Given the description of an element on the screen output the (x, y) to click on. 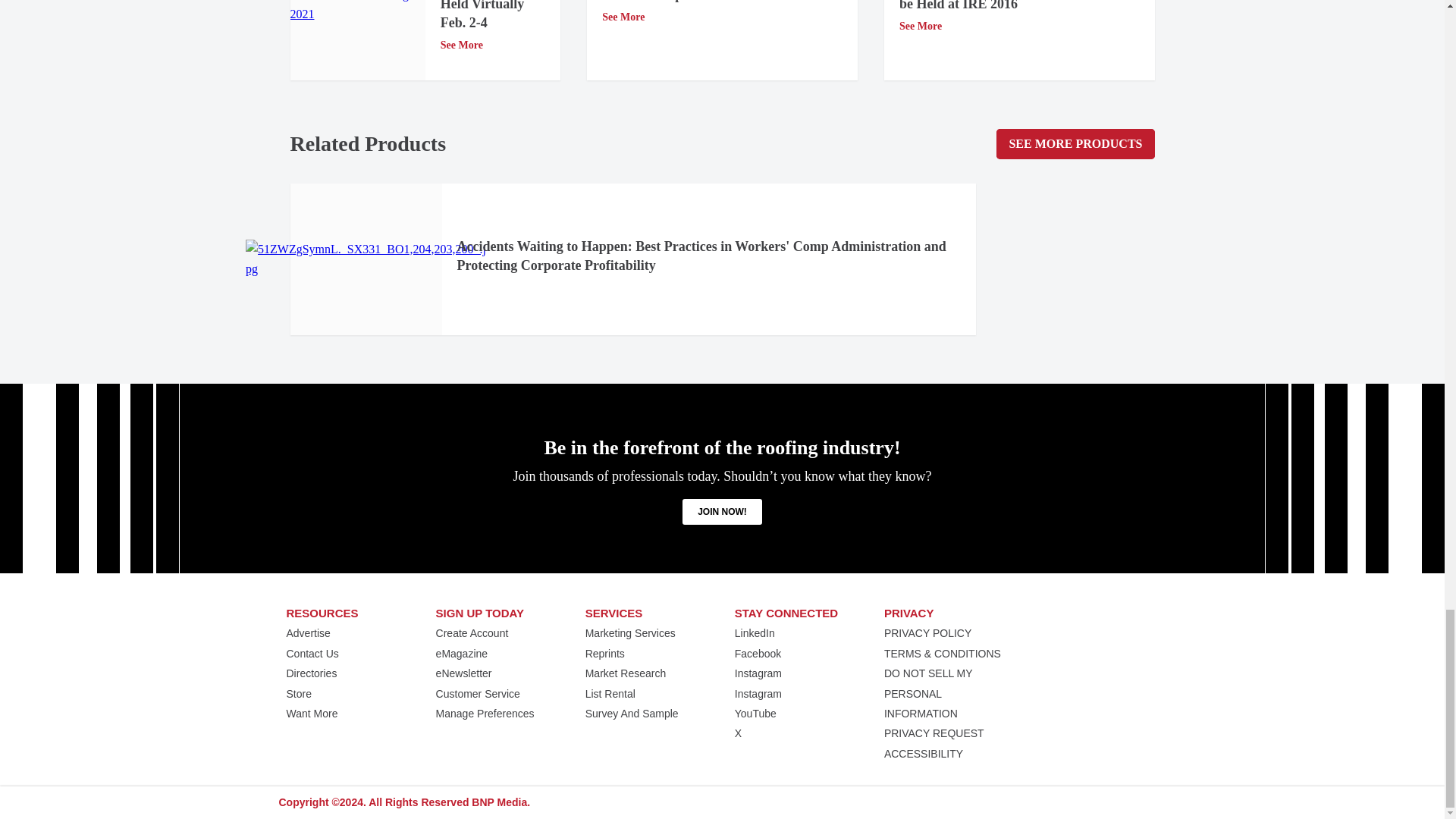
MCA Winter Meeting 2021 (357, 12)
